Given the description of an element on the screen output the (x, y) to click on. 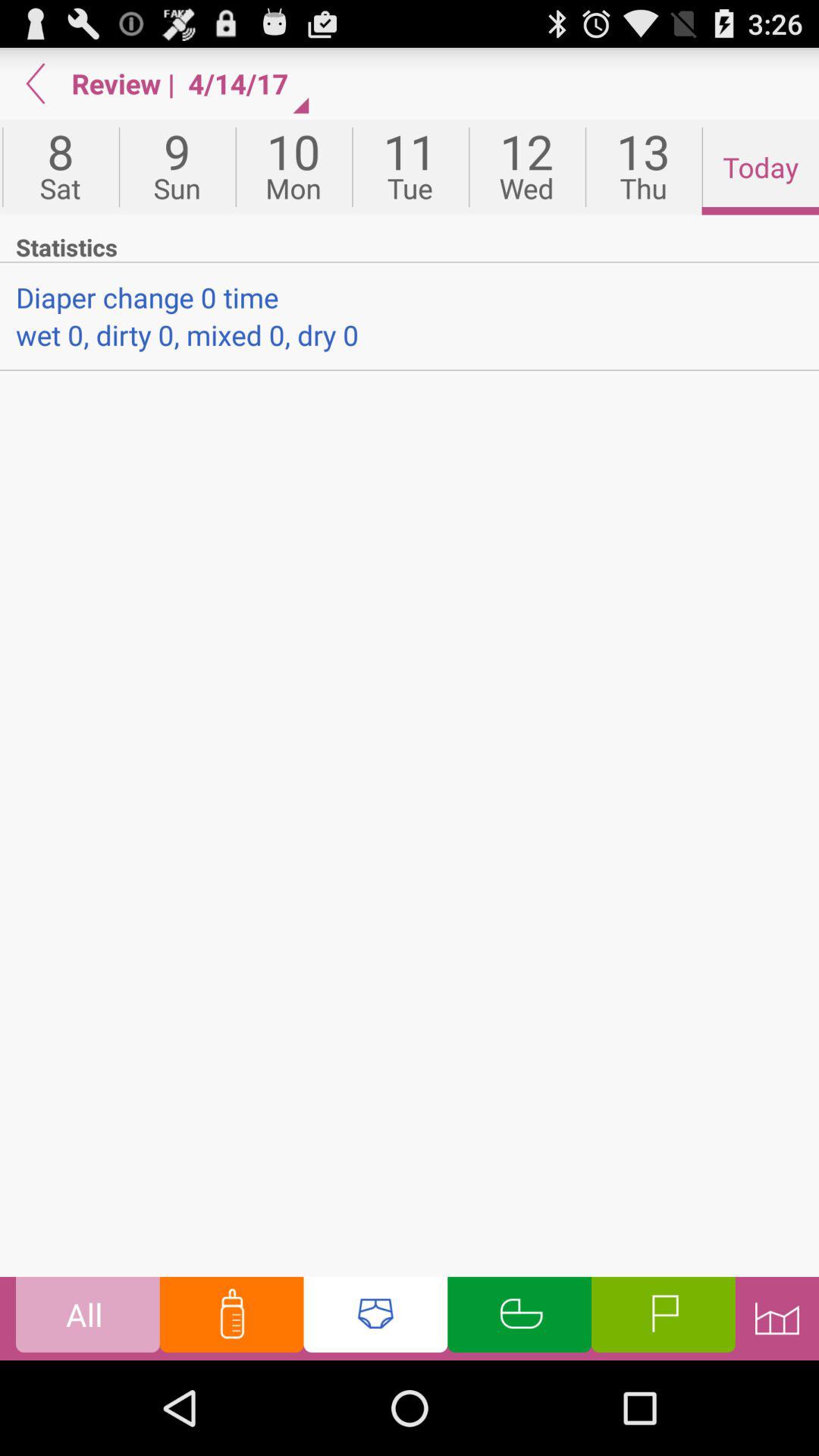
press the app above the 7 icon (35, 83)
